Given the description of an element on the screen output the (x, y) to click on. 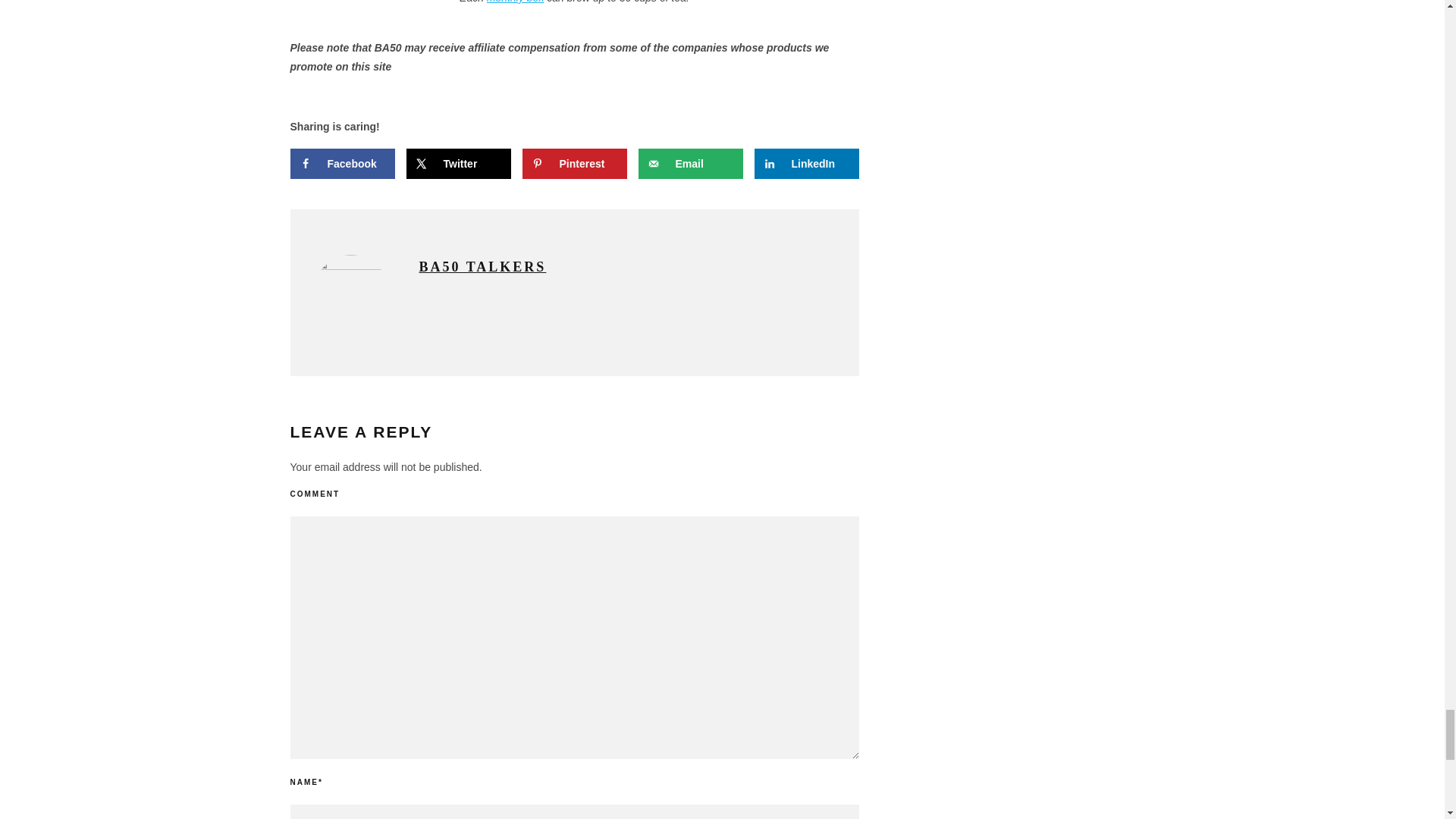
Share on X (458, 163)
Share on Facebook (341, 163)
Share on LinkedIn (806, 163)
Send over email (690, 163)
Save to Pinterest (573, 163)
